Given the description of an element on the screen output the (x, y) to click on. 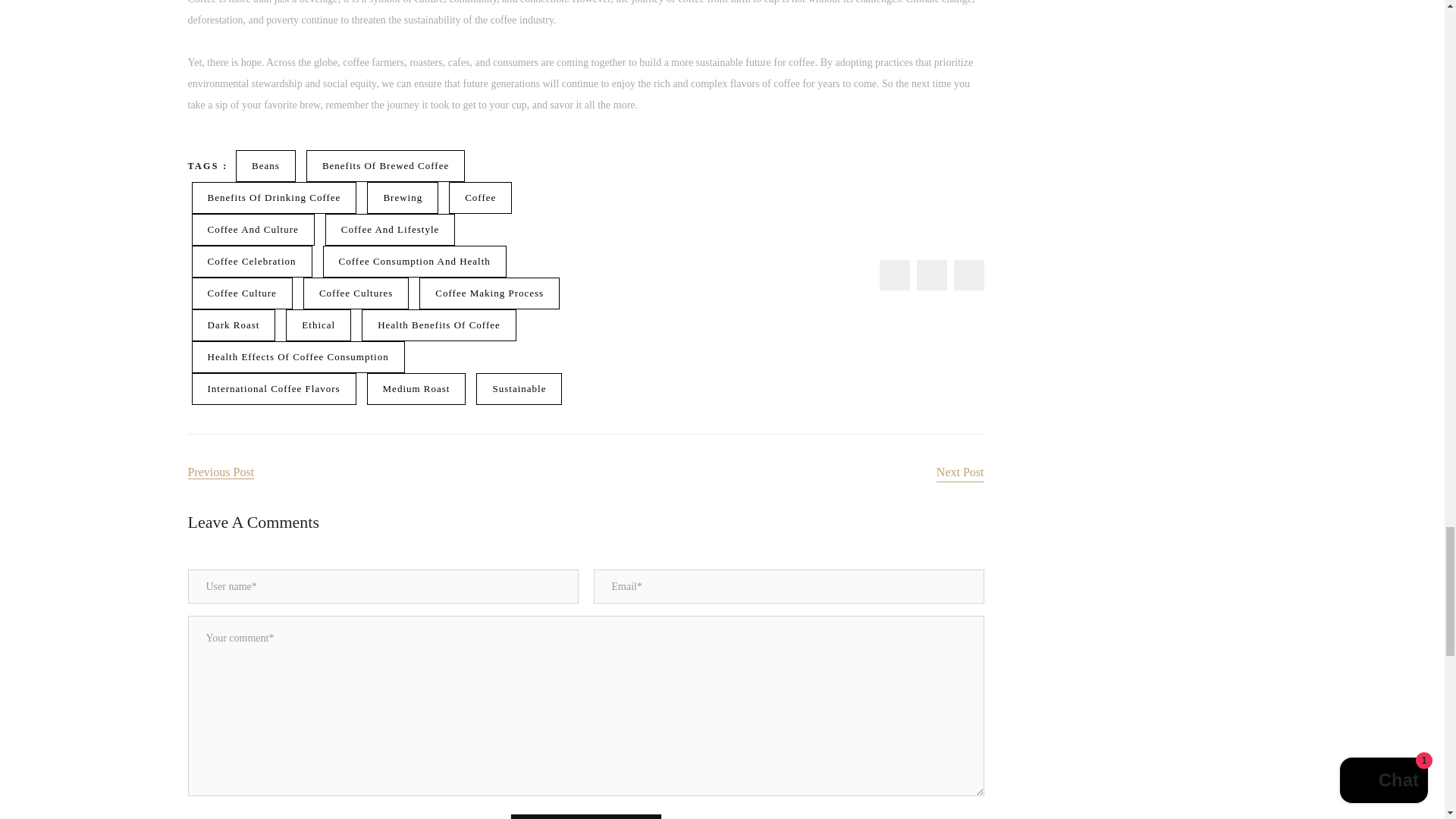
Submit (585, 816)
